Given the description of an element on the screen output the (x, y) to click on. 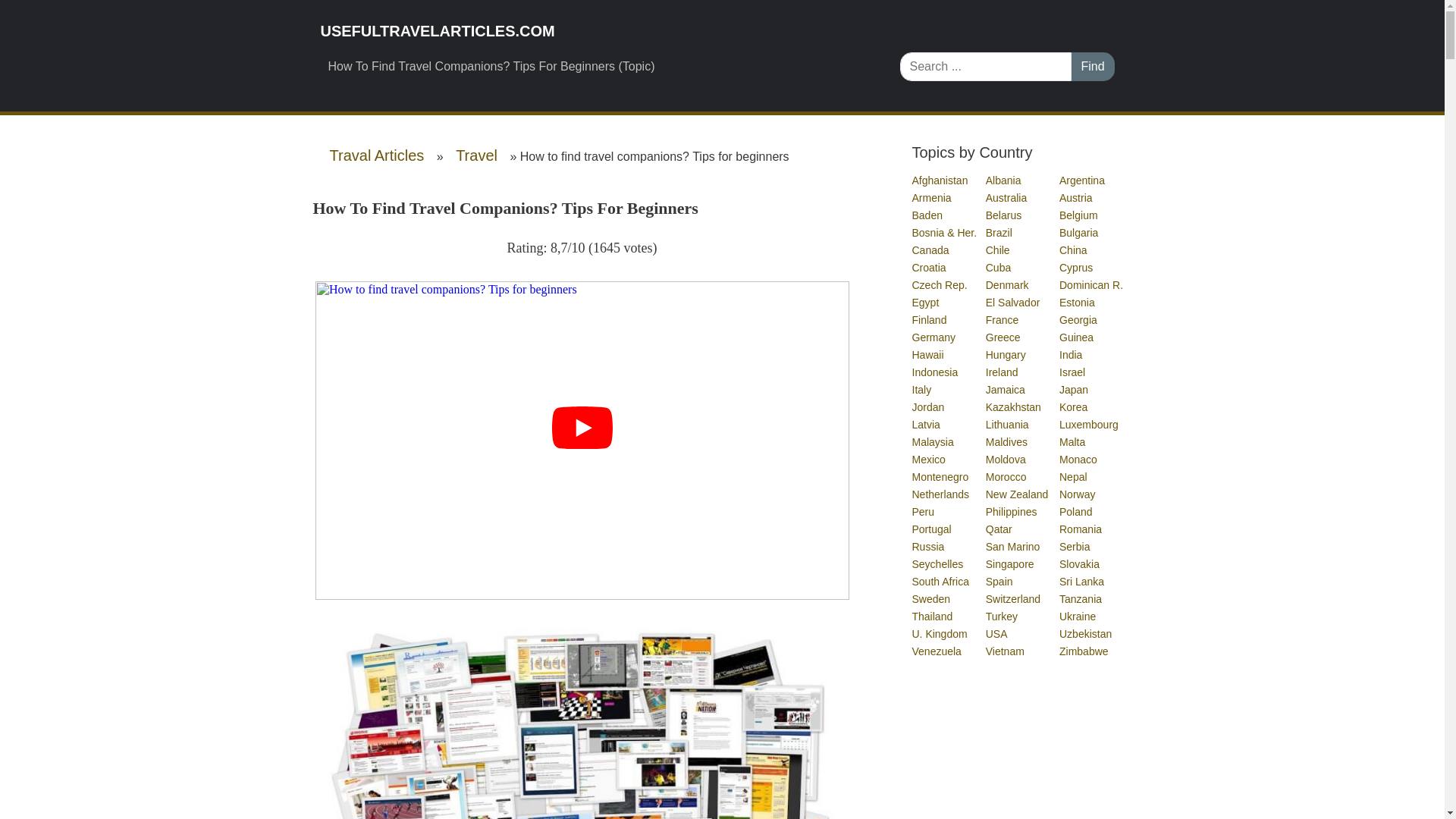
Cuba (998, 267)
Traval Articles (376, 155)
Belarus (1004, 215)
Australia (1006, 197)
El Salvador (1013, 302)
Find (1091, 66)
China (1074, 250)
Greece (1003, 337)
Egypt (925, 302)
Denmark (1007, 285)
Travel (476, 155)
Georgia (1079, 319)
Austria (1076, 197)
Germany (933, 337)
Finland (929, 319)
